Given the description of an element on the screen output the (x, y) to click on. 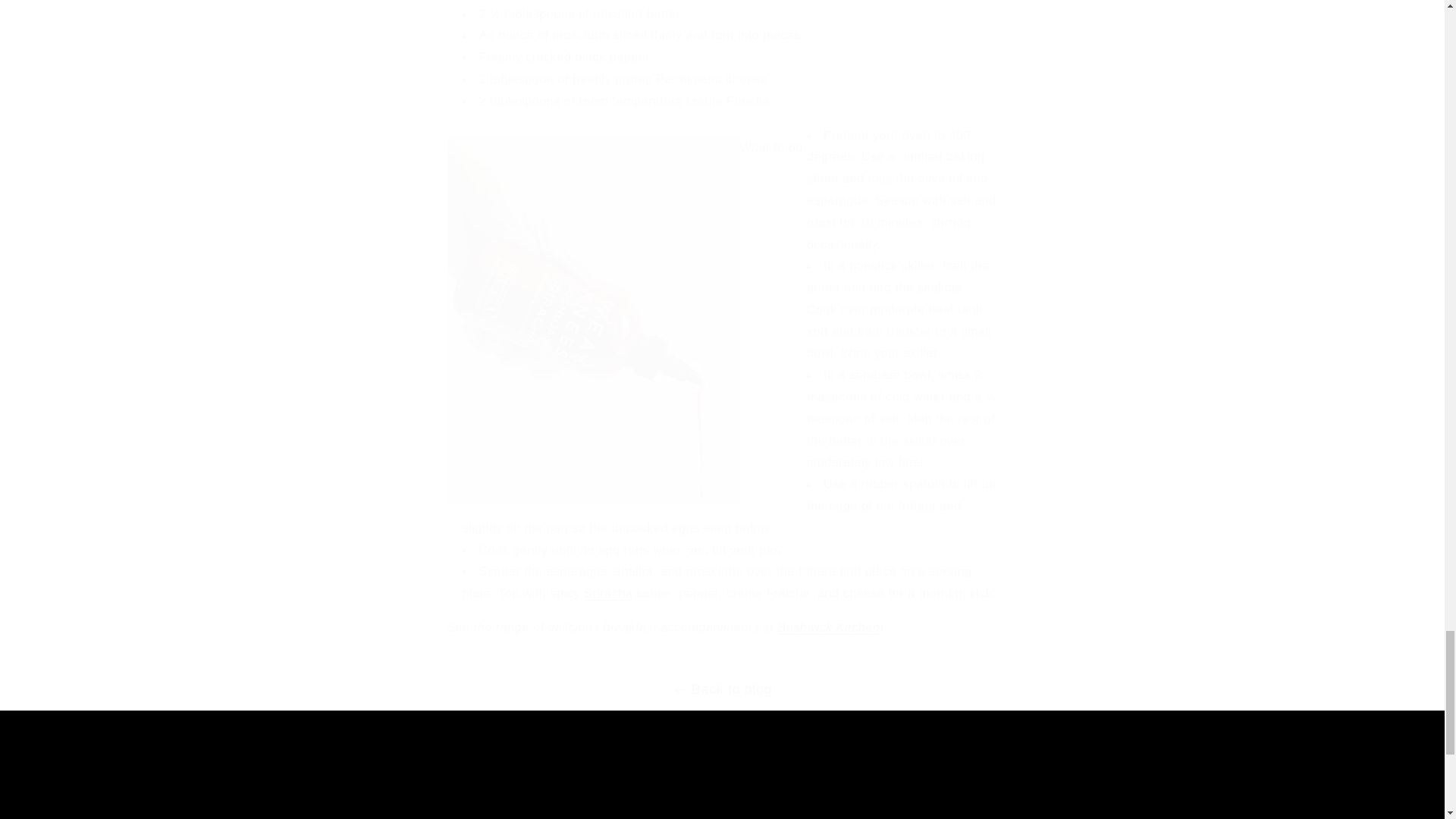
Bushwick Kitchen (441, 793)
Sriracha (722, 793)
